Given the description of an element on the screen output the (x, y) to click on. 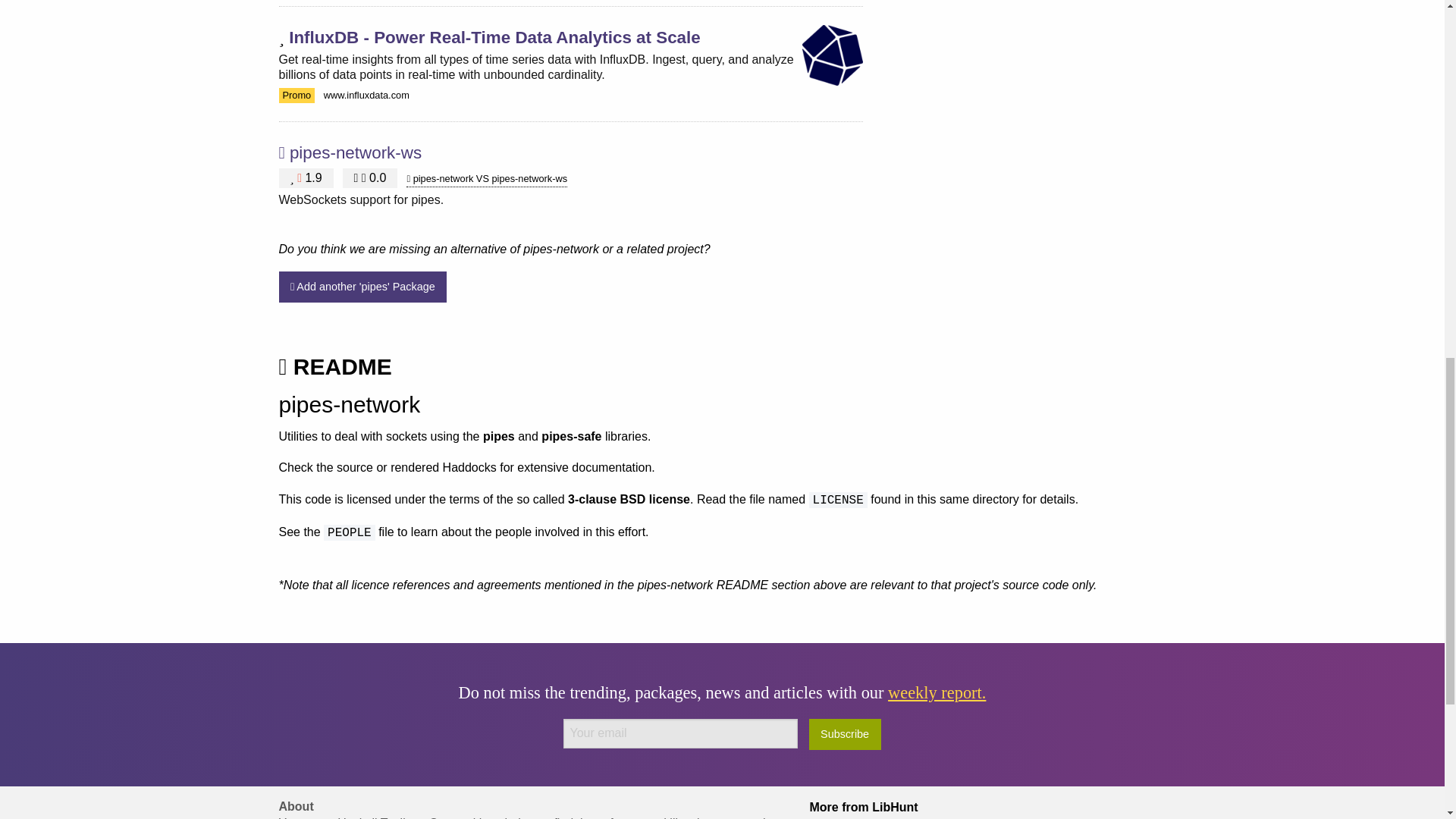
InfluxDB - Power Real-Time Data Analytics at Scale (494, 36)
pipes-network VS pipes-network-ws (486, 179)
Subscribe (844, 734)
InfluxDB Logo (832, 55)
pipes-network-ws (355, 152)
